Given the description of an element on the screen output the (x, y) to click on. 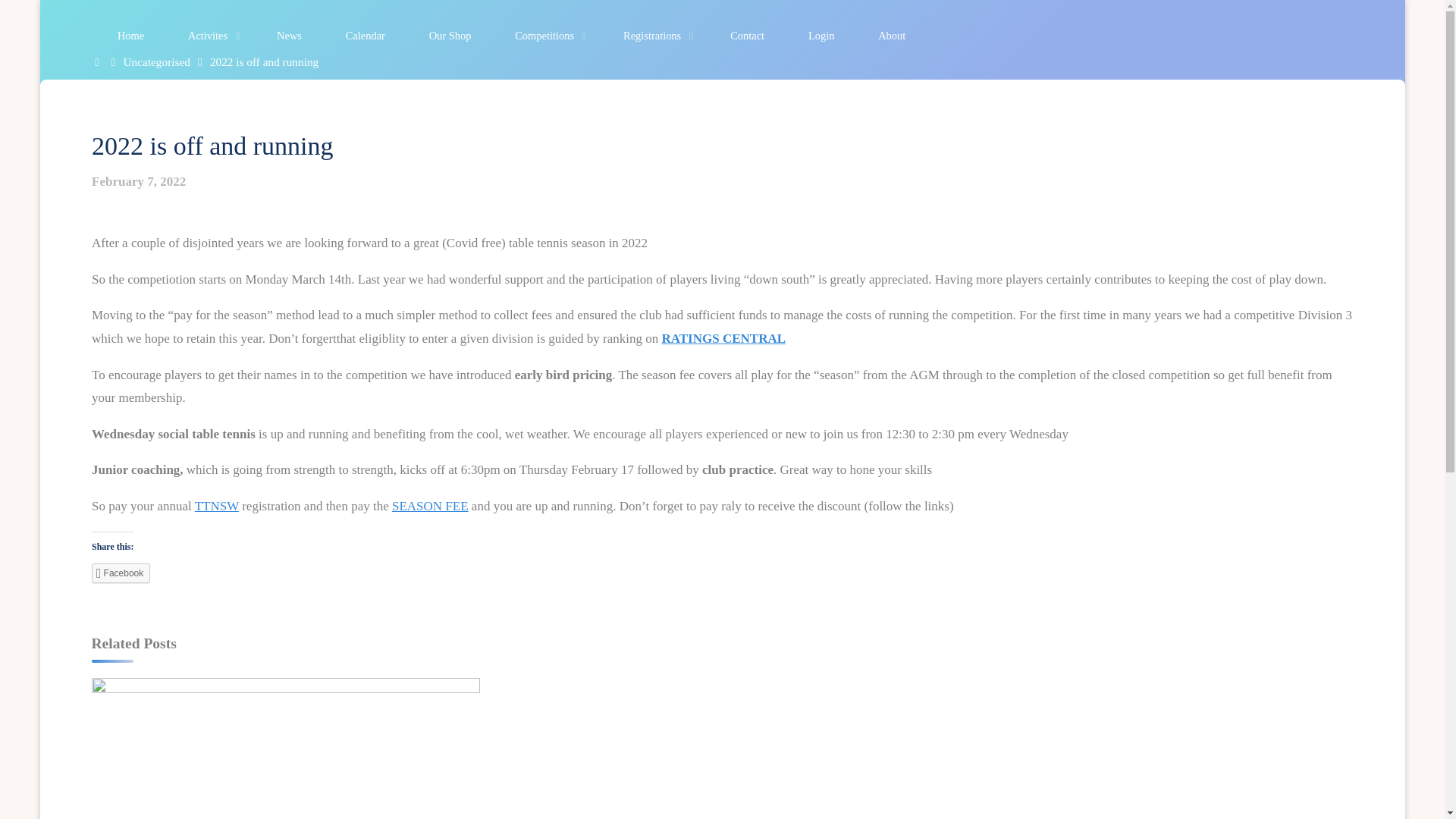
Home (98, 61)
Triples is here! (284, 789)
Junior Table Tennis Development (1078, 796)
Click to share on Facebook (119, 573)
Activites (209, 35)
Home (130, 35)
